Given the description of an element on the screen output the (x, y) to click on. 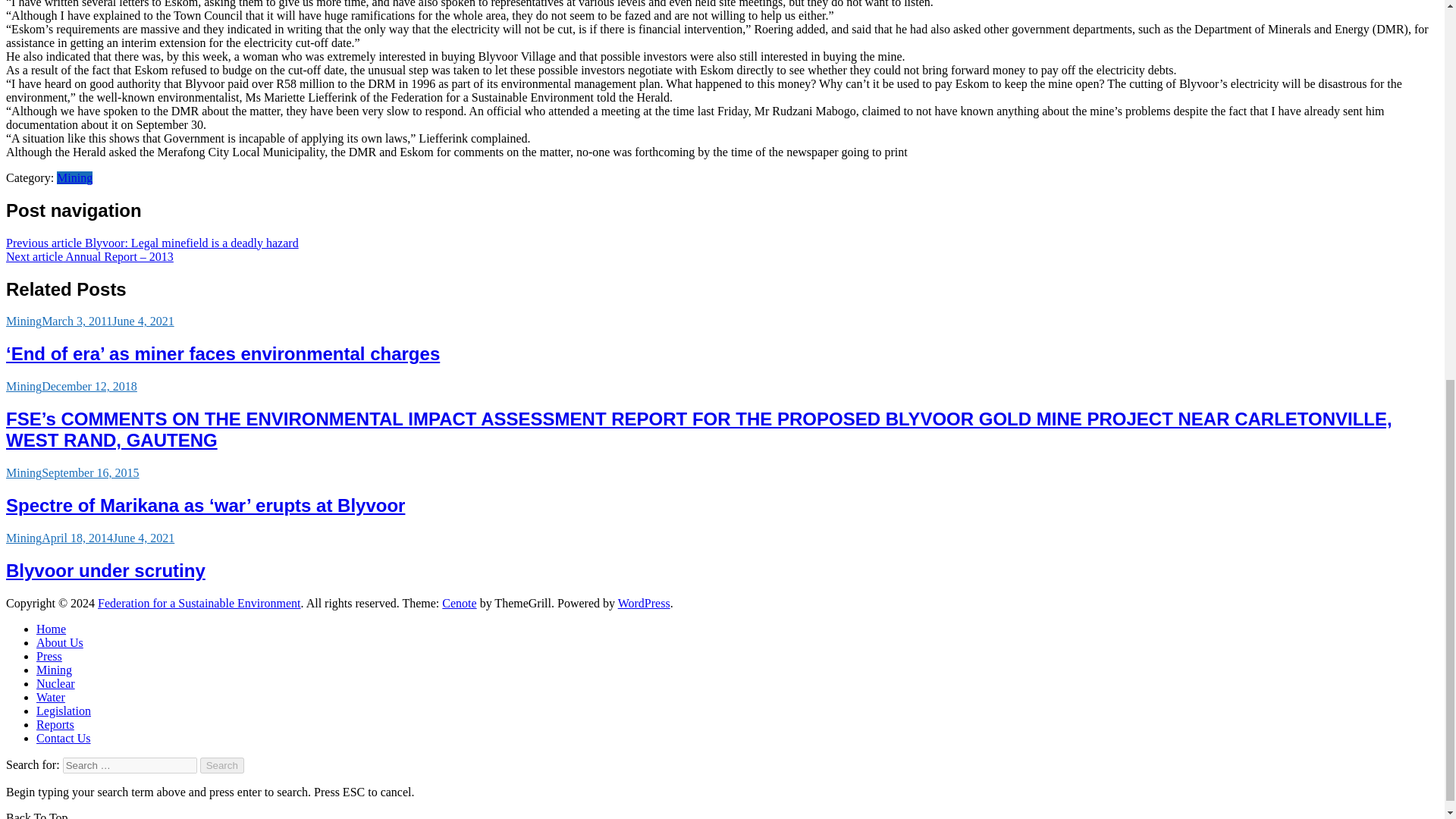
Mining (23, 320)
Mining (23, 386)
Search (222, 765)
September 16, 2015 (90, 472)
March 3, 2011June 4, 2021 (108, 320)
April 18, 2014June 4, 2021 (108, 537)
Mining (74, 177)
Mining (23, 472)
December 12, 2018 (89, 386)
Mining (23, 537)
Federation for a Sustainable Environment (198, 603)
Previous article Blyvoor: Legal minefield is a deadly hazard (151, 242)
Search (222, 765)
